Given the description of an element on the screen output the (x, y) to click on. 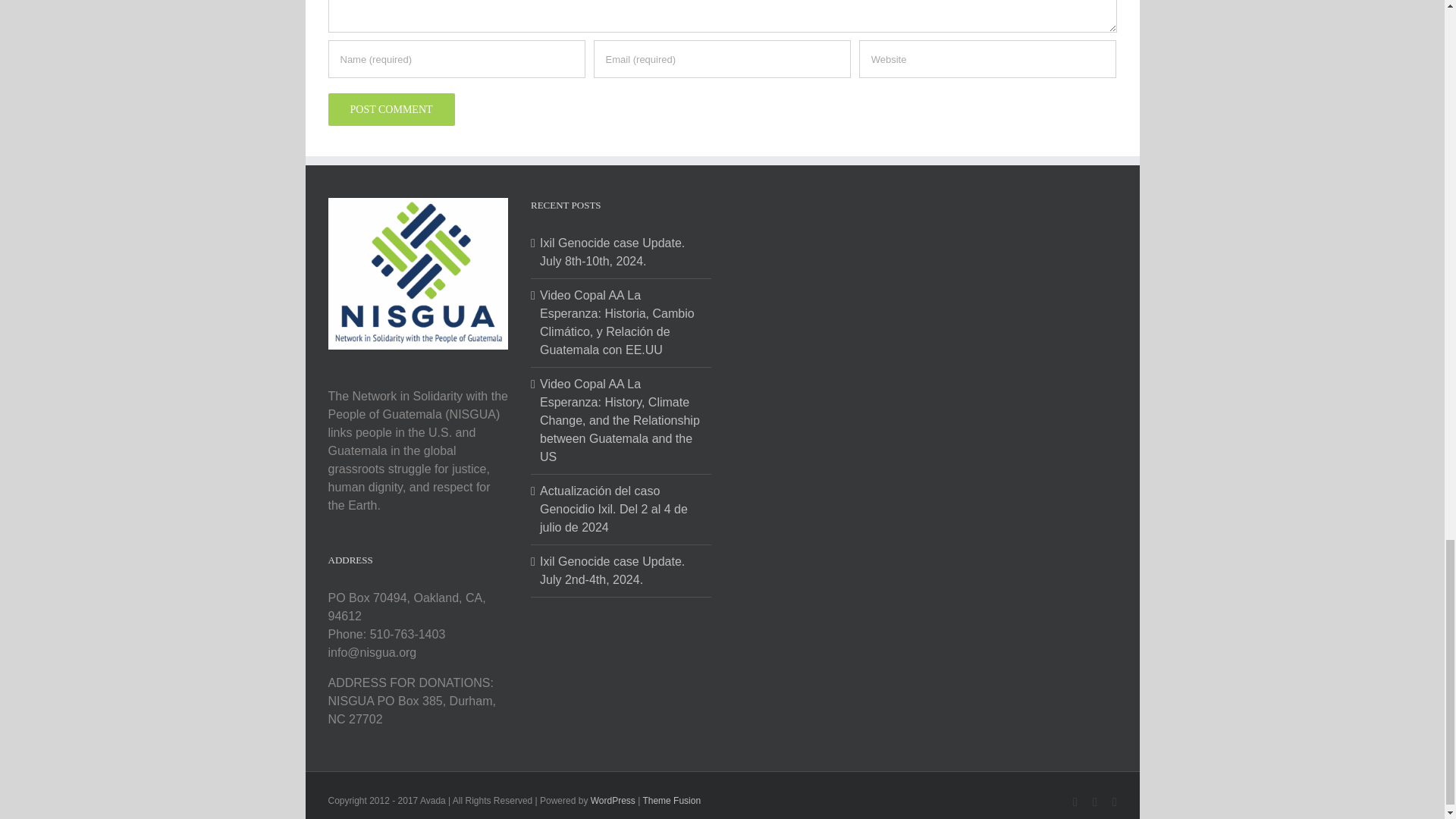
Post Comment (390, 109)
